Given the description of an element on the screen output the (x, y) to click on. 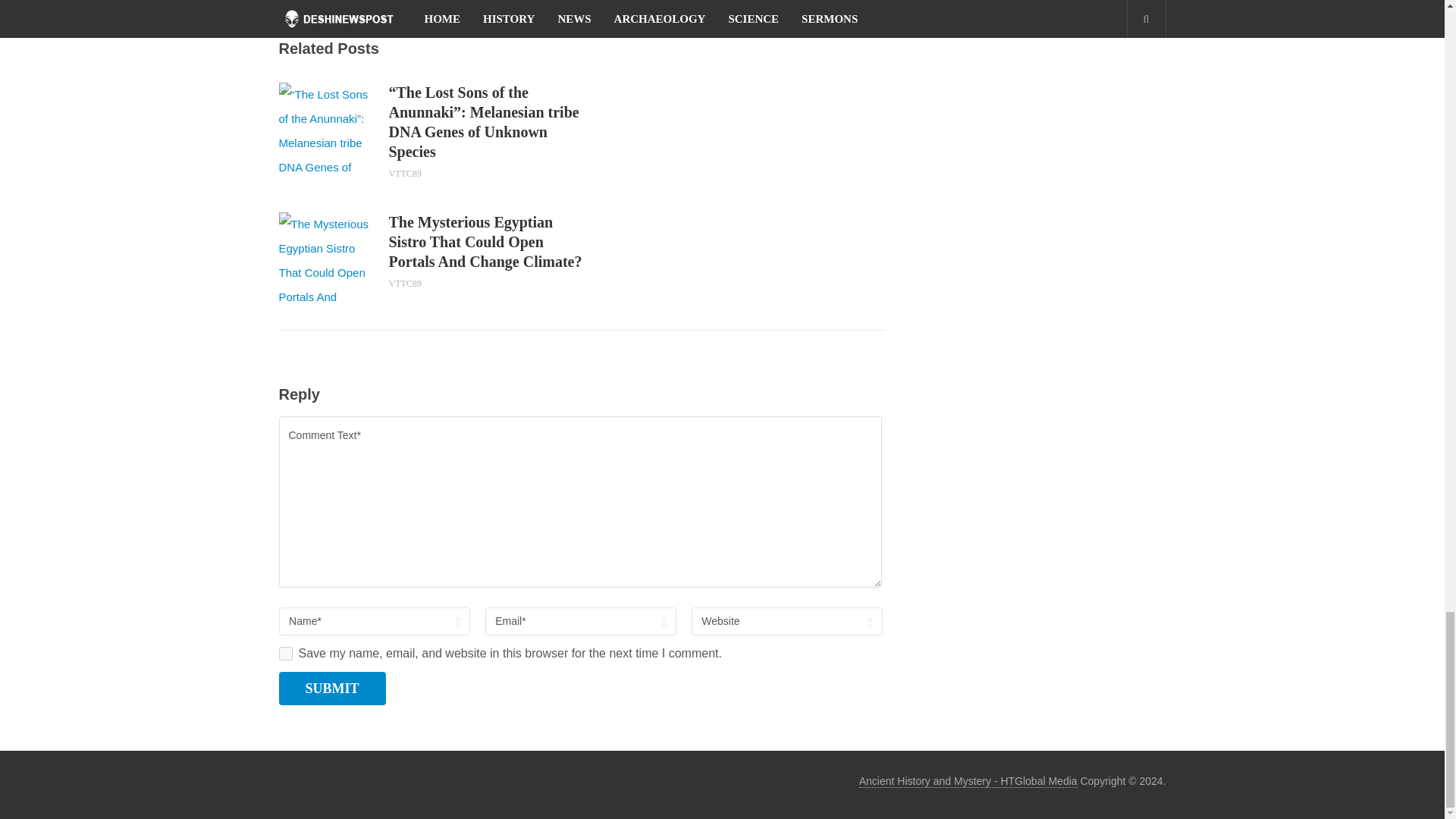
Ancient History and Mystery - HTGlobal Media (968, 780)
yes (285, 653)
VTTC89 (404, 283)
Submit (332, 688)
VTTC89 (404, 173)
Posts by vttc89 (404, 173)
Submit (332, 688)
Posts by vttc89 (404, 283)
